Given the description of an element on the screen output the (x, y) to click on. 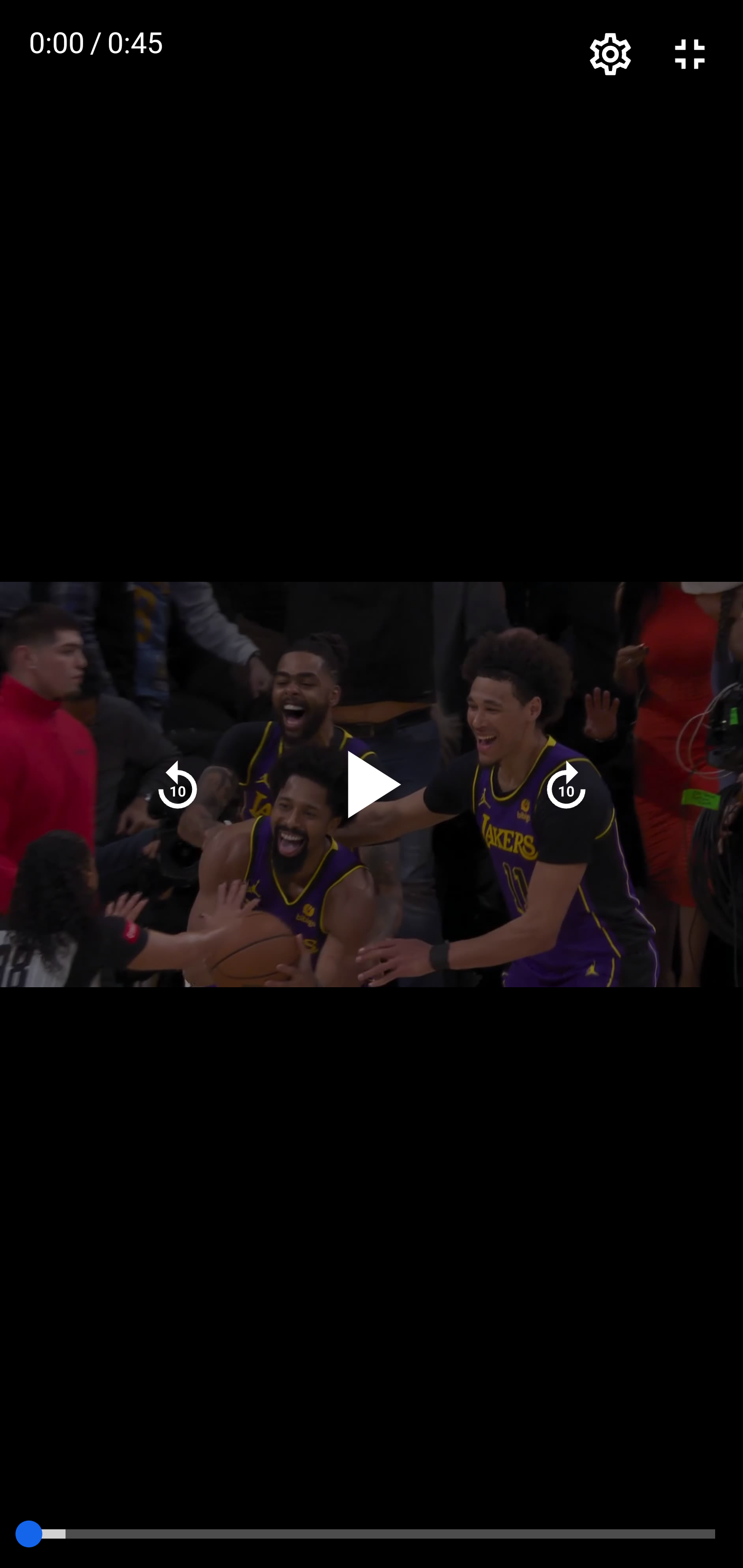
Options (o) (611, 54)
Exit full screen (f) (690, 54)
Play (k) (372, 784)
Seek back (j) (177, 783)
Seek forward (l) (565, 783)
